Given the description of an element on the screen output the (x, y) to click on. 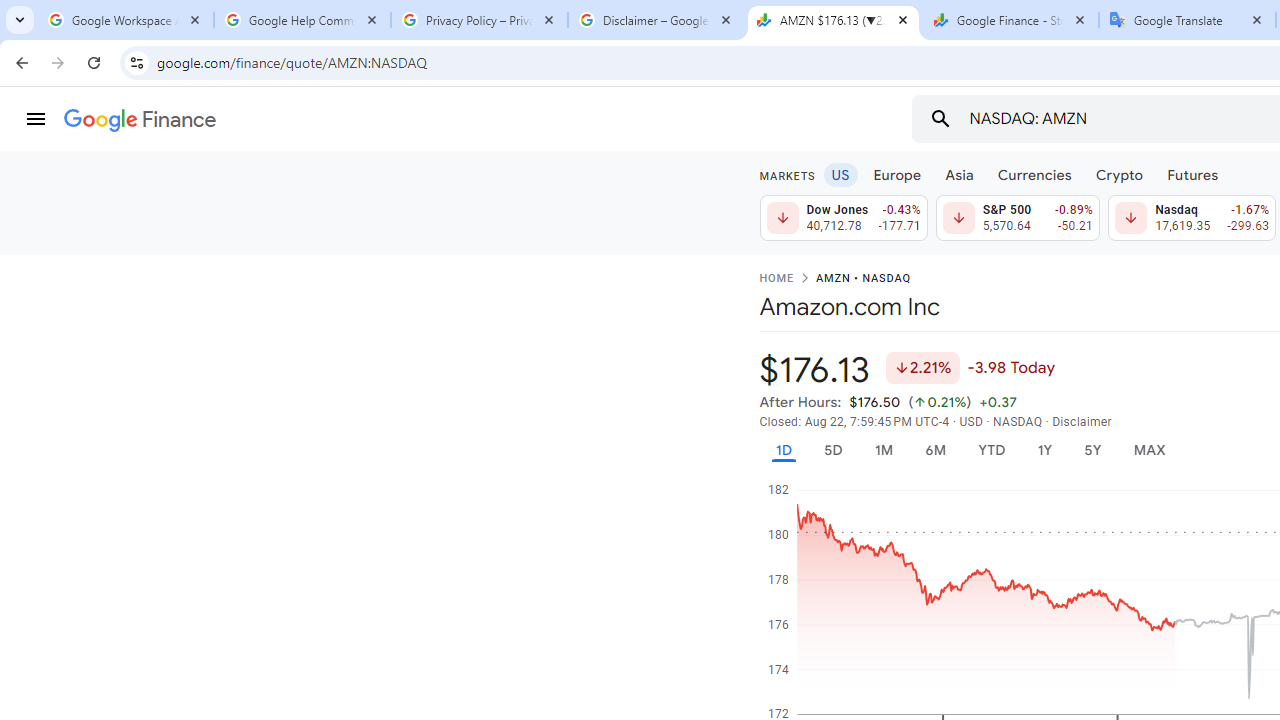
Futures (1192, 174)
1M (882, 449)
6M (934, 449)
Finance (140, 120)
S&P 500 5,570.64 Down by 0.89% -50.21 (1017, 218)
YTD (991, 449)
1Y (1044, 449)
HOME (776, 279)
5D (832, 449)
